Given the description of an element on the screen output the (x, y) to click on. 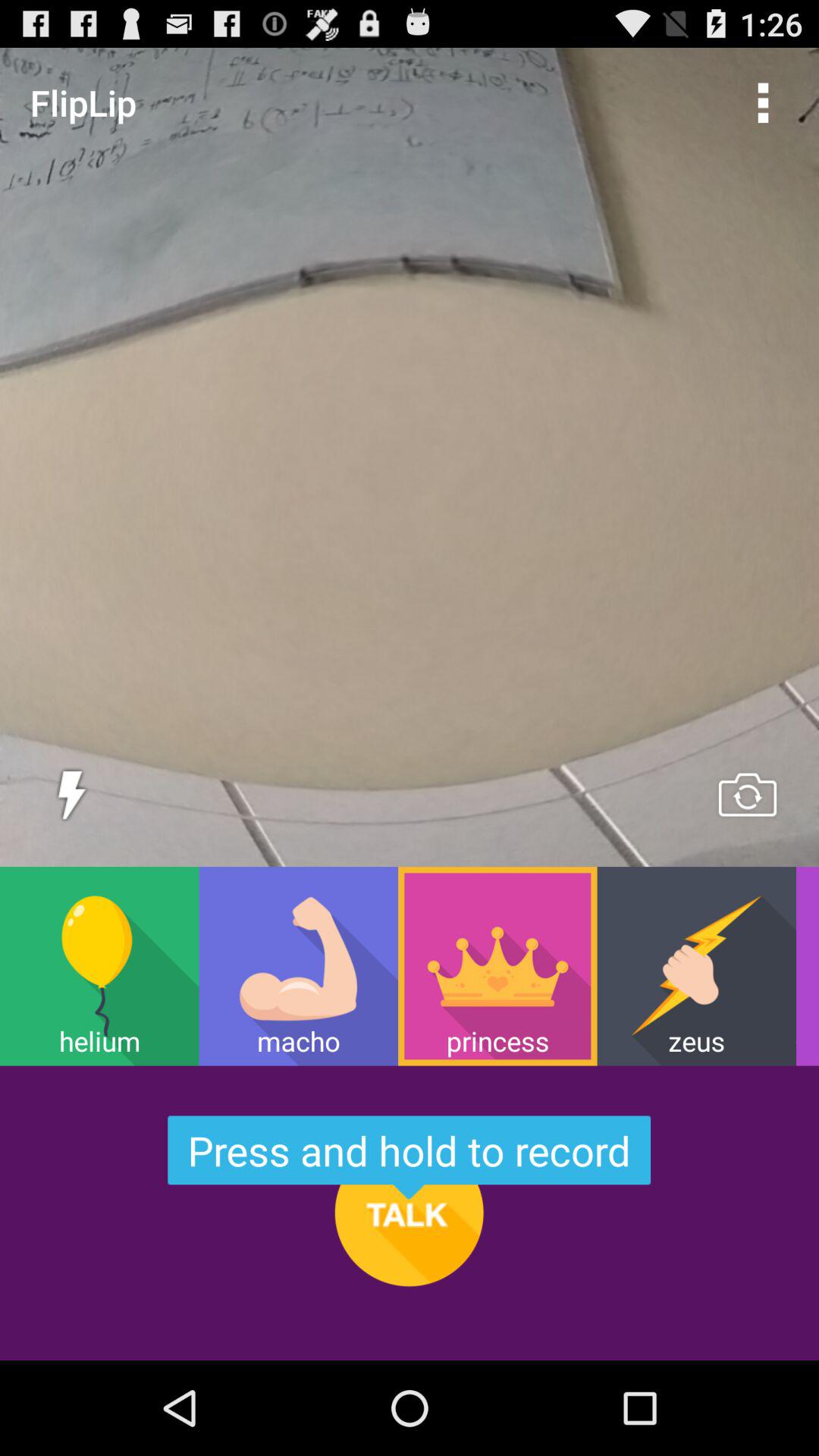
turn on icon next to helium (298, 965)
